Given the description of an element on the screen output the (x, y) to click on. 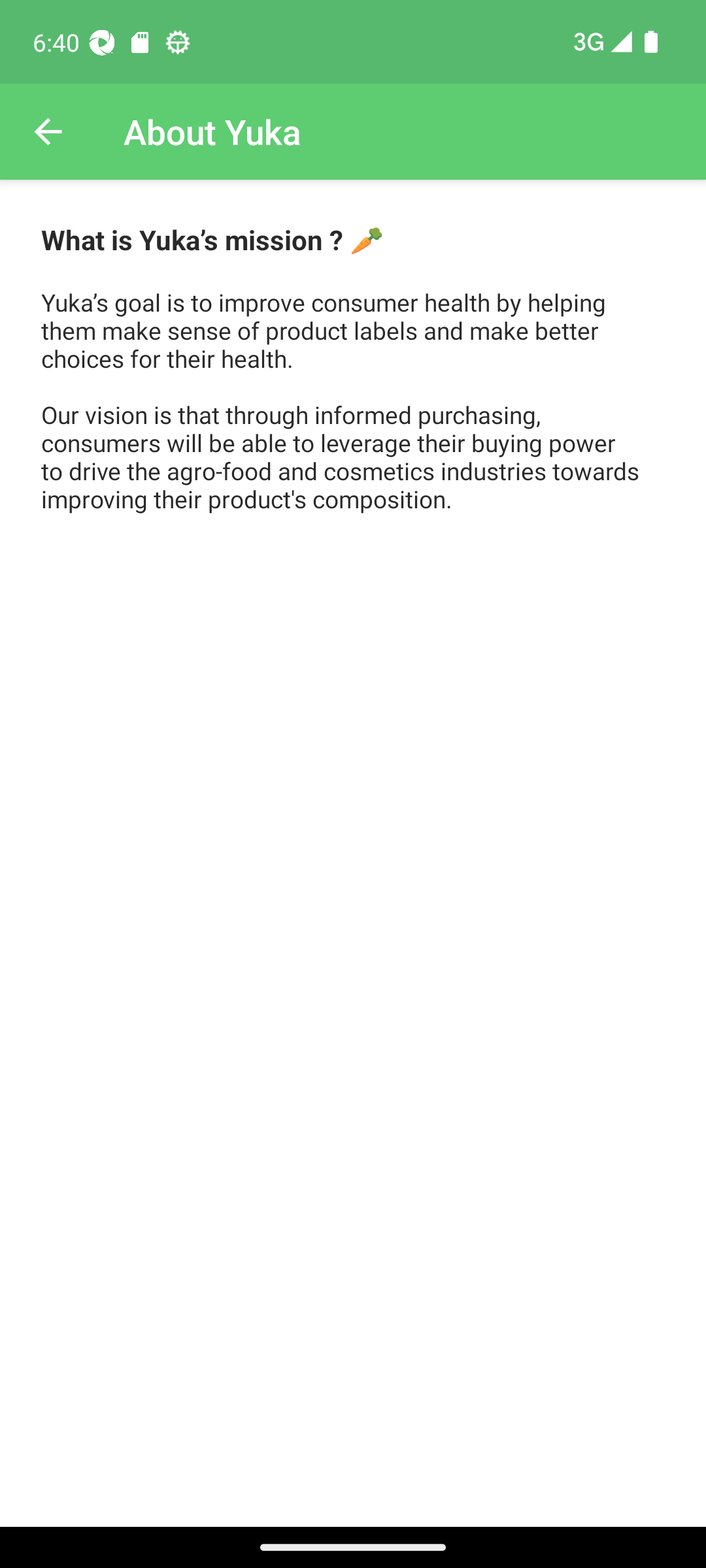
Navigate up (48, 131)
